Given the description of an element on the screen output the (x, y) to click on. 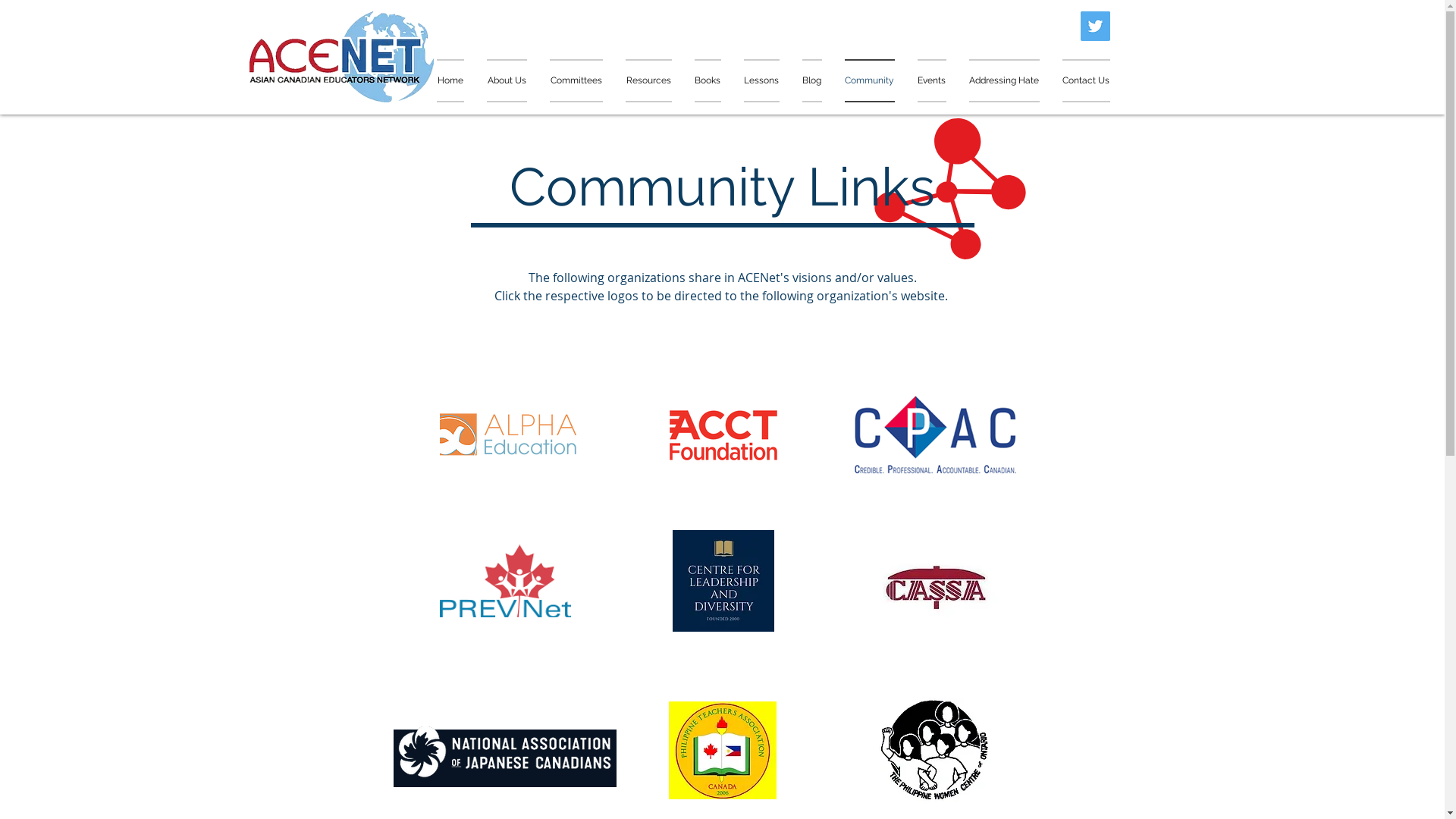
Committees Element type: text (576, 80)
Contact Us Element type: text (1080, 80)
Community Element type: text (868, 80)
About Us Element type: text (505, 80)
Books Element type: text (706, 80)
Events Element type: text (931, 80)
Home Element type: text (455, 80)
Addressing Hate Element type: text (1003, 80)
Blog Element type: text (811, 80)
Resources Element type: text (648, 80)
Lessons Element type: text (761, 80)
